Given the description of an element on the screen output the (x, y) to click on. 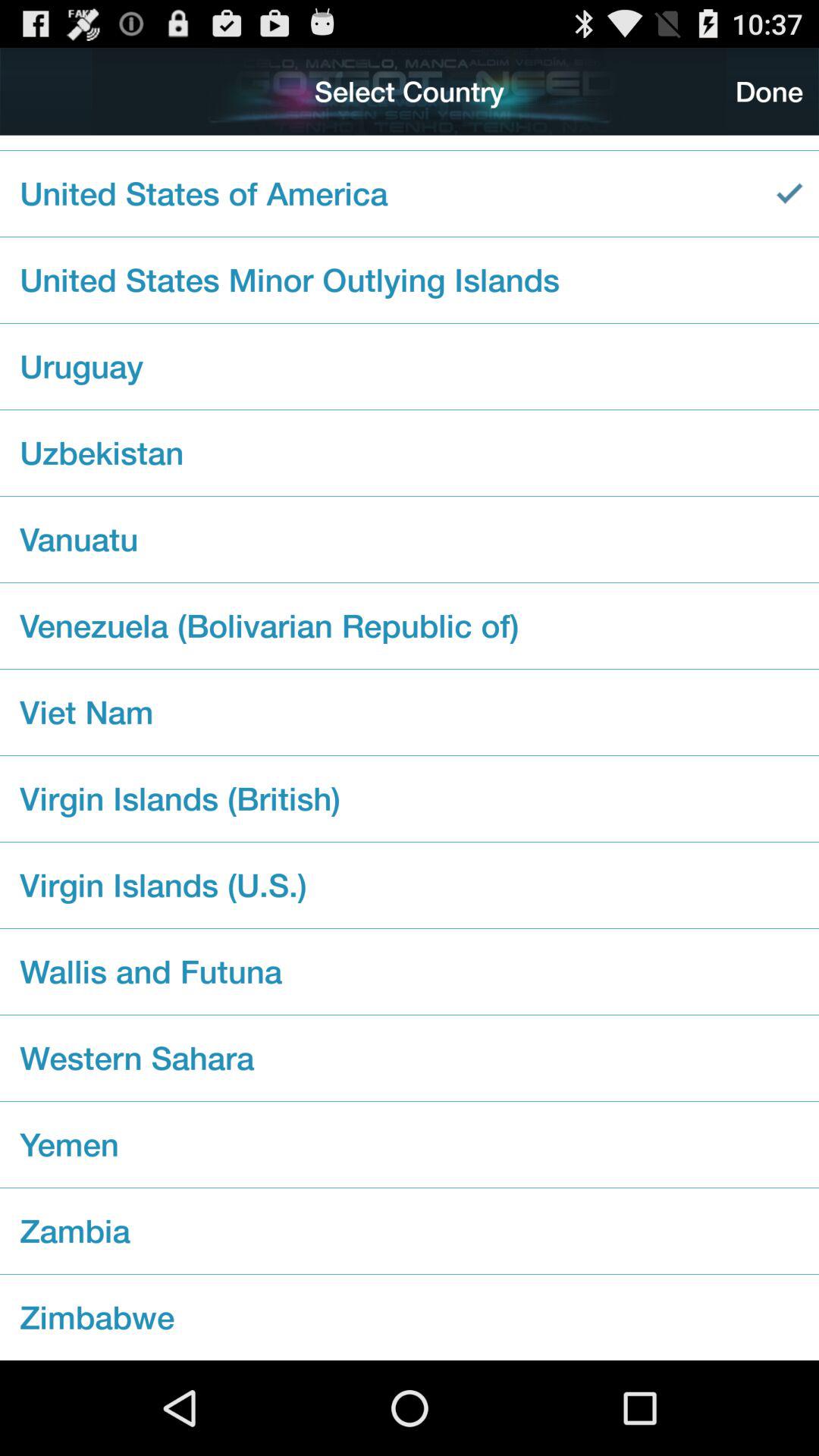
swipe to the wallis and futuna checkbox (409, 971)
